Given the description of an element on the screen output the (x, y) to click on. 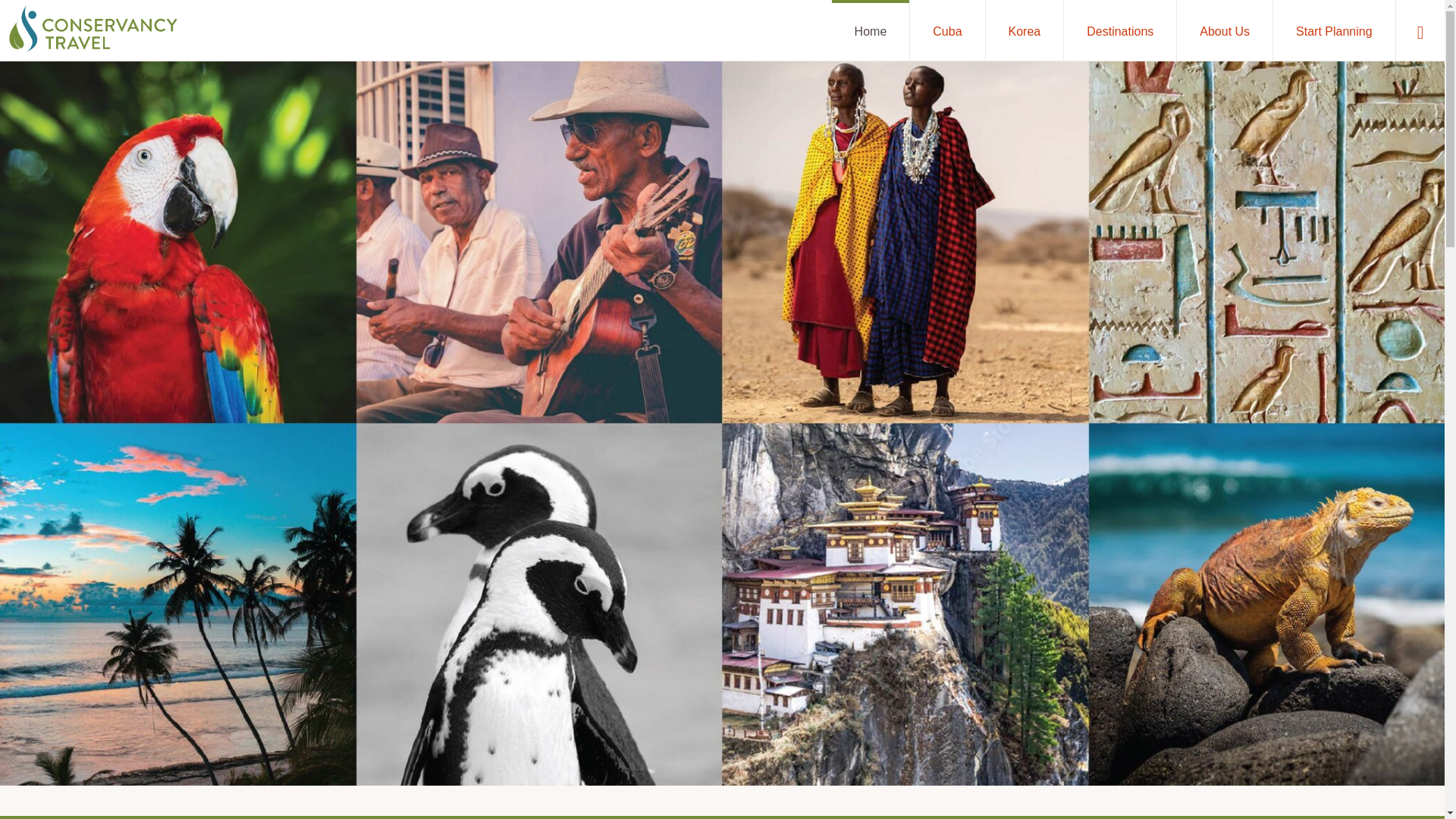
SUBMIT (1032, 702)
Start Planning (1333, 30)
Seller of Travel Disclosure (531, 715)
Cuba (947, 30)
Home (870, 30)
Destinations (1120, 30)
Travel Insurance (510, 696)
Korea (1024, 30)
About Us (1224, 30)
